Given the description of an element on the screen output the (x, y) to click on. 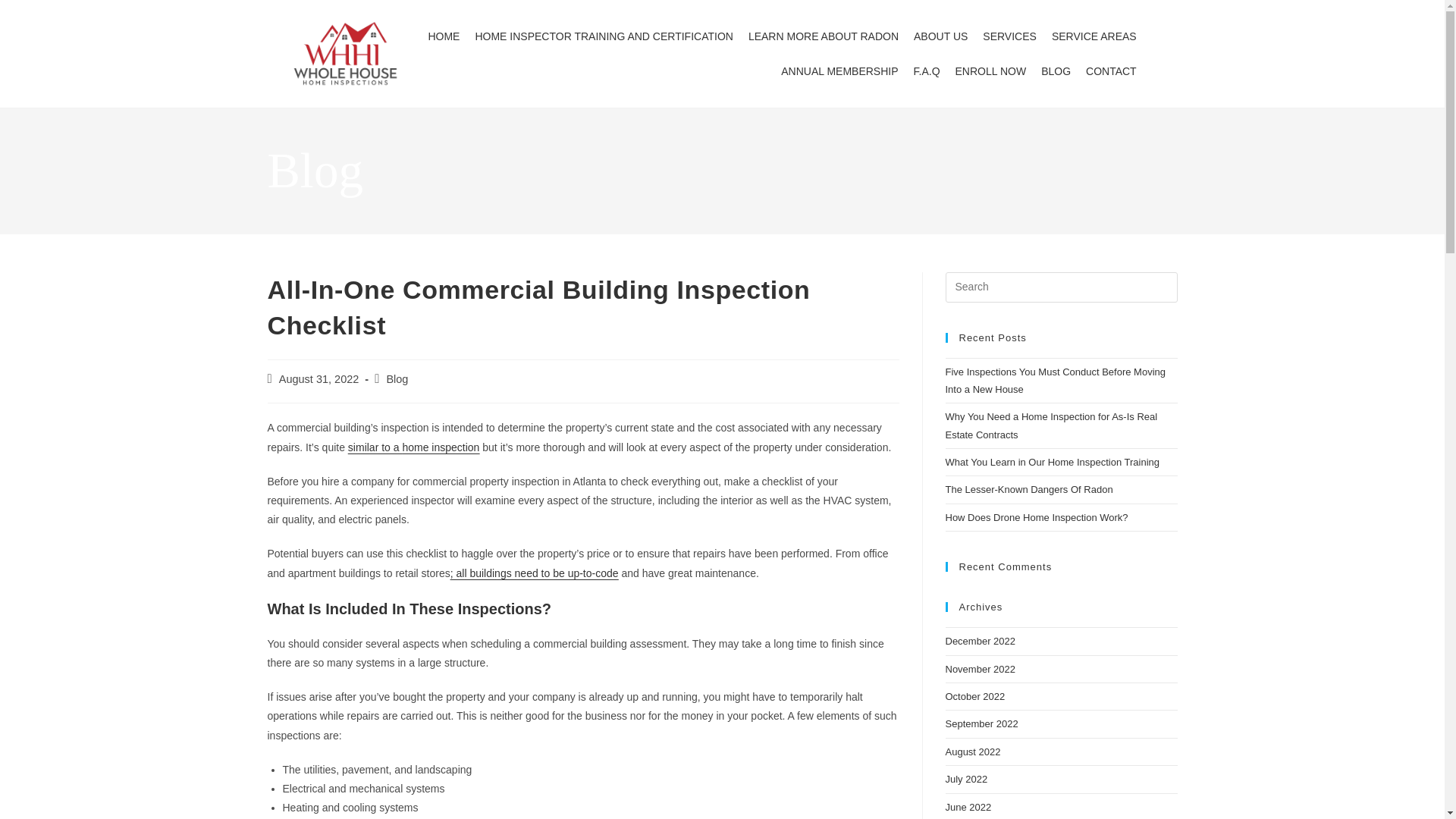
F.A.Q (926, 71)
; all buildings need to be up-to-code (533, 573)
SERVICE AREAS (1093, 36)
HOME (443, 36)
LEARN MORE ABOUT RADON (823, 36)
similar to a home inspection (413, 447)
SERVICES (1009, 36)
ENROLL NOW (990, 71)
ANNUAL MEMBERSHIP (839, 71)
CONTACT (1111, 71)
BLOG (1055, 71)
HOME INSPECTOR TRAINING AND CERTIFICATION (603, 36)
Blog (396, 378)
ABOUT US (940, 36)
